Given the description of an element on the screen output the (x, y) to click on. 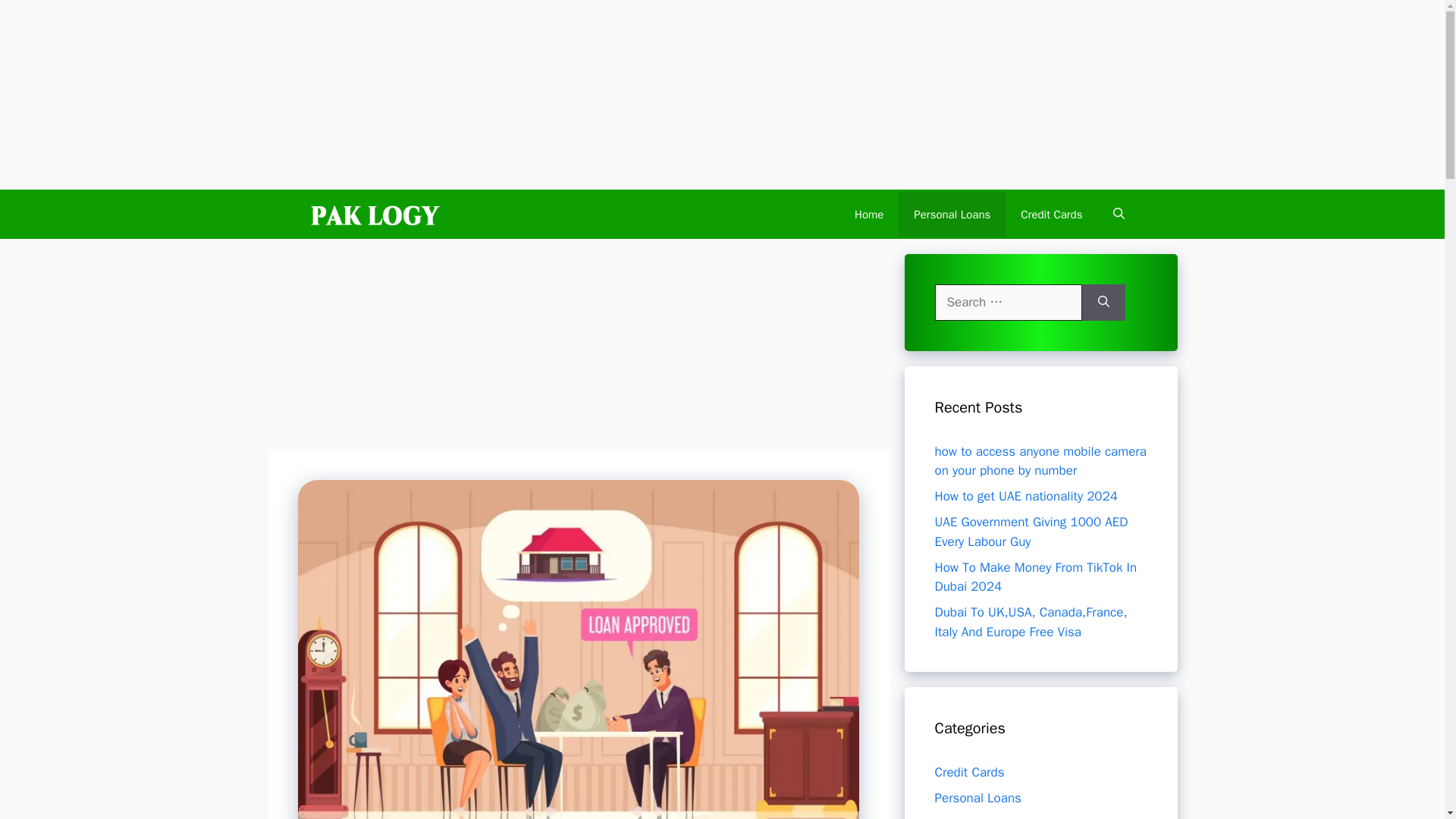
How to get UAE nationality 2024 (1025, 496)
Search for: (1007, 302)
Personal Loans (977, 797)
how to access anyone mobile camera on your phone by number (1039, 460)
UAE Government Giving 1000 AED Every Labour Guy (1030, 531)
Personal Loans (952, 213)
Dubai To UK,USA, Canada,France, Italy And Europe Free Visa (1030, 621)
Pak Logy (374, 214)
Credit Cards (969, 772)
Credit Cards (1051, 213)
Home (869, 213)
How To Make Money From TikTok In Dubai 2024 (1035, 577)
